Given the description of an element on the screen output the (x, y) to click on. 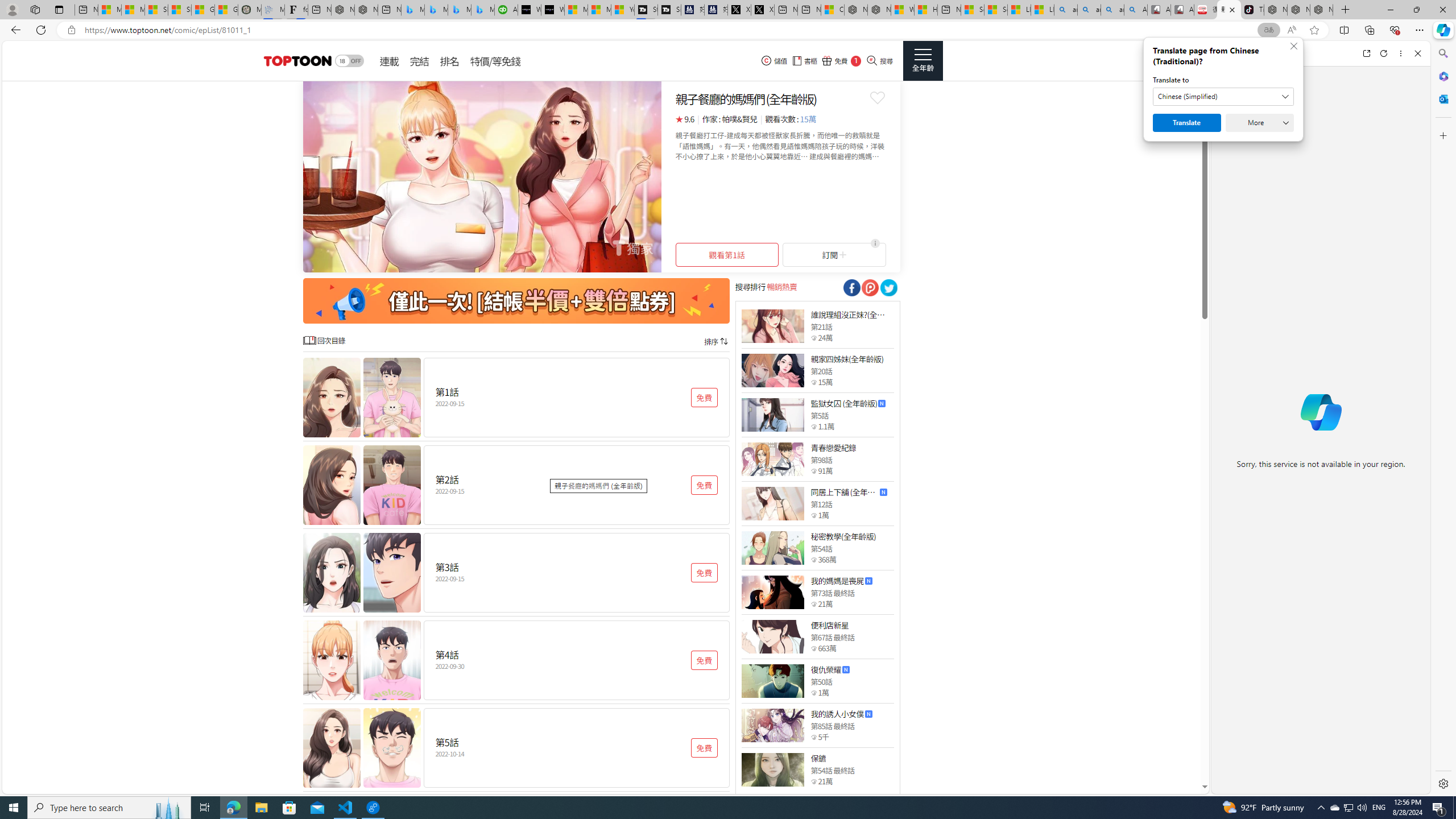
amazon - Search Images (1112, 9)
Class:  switch_18mode actionAdultBtn (349, 60)
Microsoft Start (598, 9)
Class: epicon_starpoint (813, 781)
Shanghai, China weather forecast | Microsoft Weather (179, 9)
Class: socialShare (887, 287)
More (1259, 122)
Nordace - Best Sellers (1275, 9)
